Given the description of an element on the screen output the (x, y) to click on. 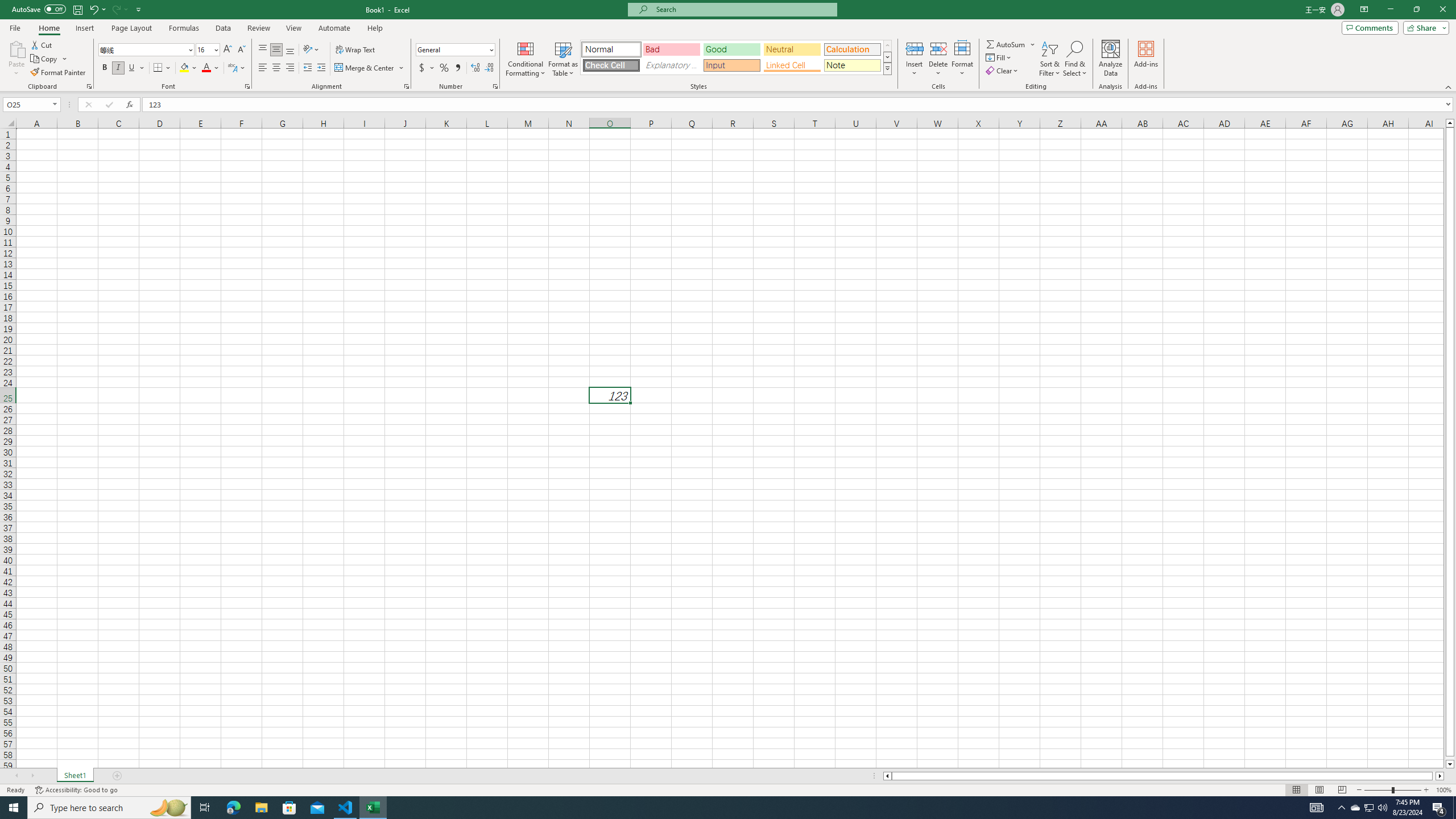
Merge & Center (369, 67)
Note (852, 65)
Neutral (791, 49)
Check Cell (611, 65)
Fill Color (188, 67)
Font (142, 49)
Middle Align (276, 49)
Font Color (210, 67)
Underline (136, 67)
Conditional Formatting (525, 58)
Decrease Font Size (240, 49)
